Given the description of an element on the screen output the (x, y) to click on. 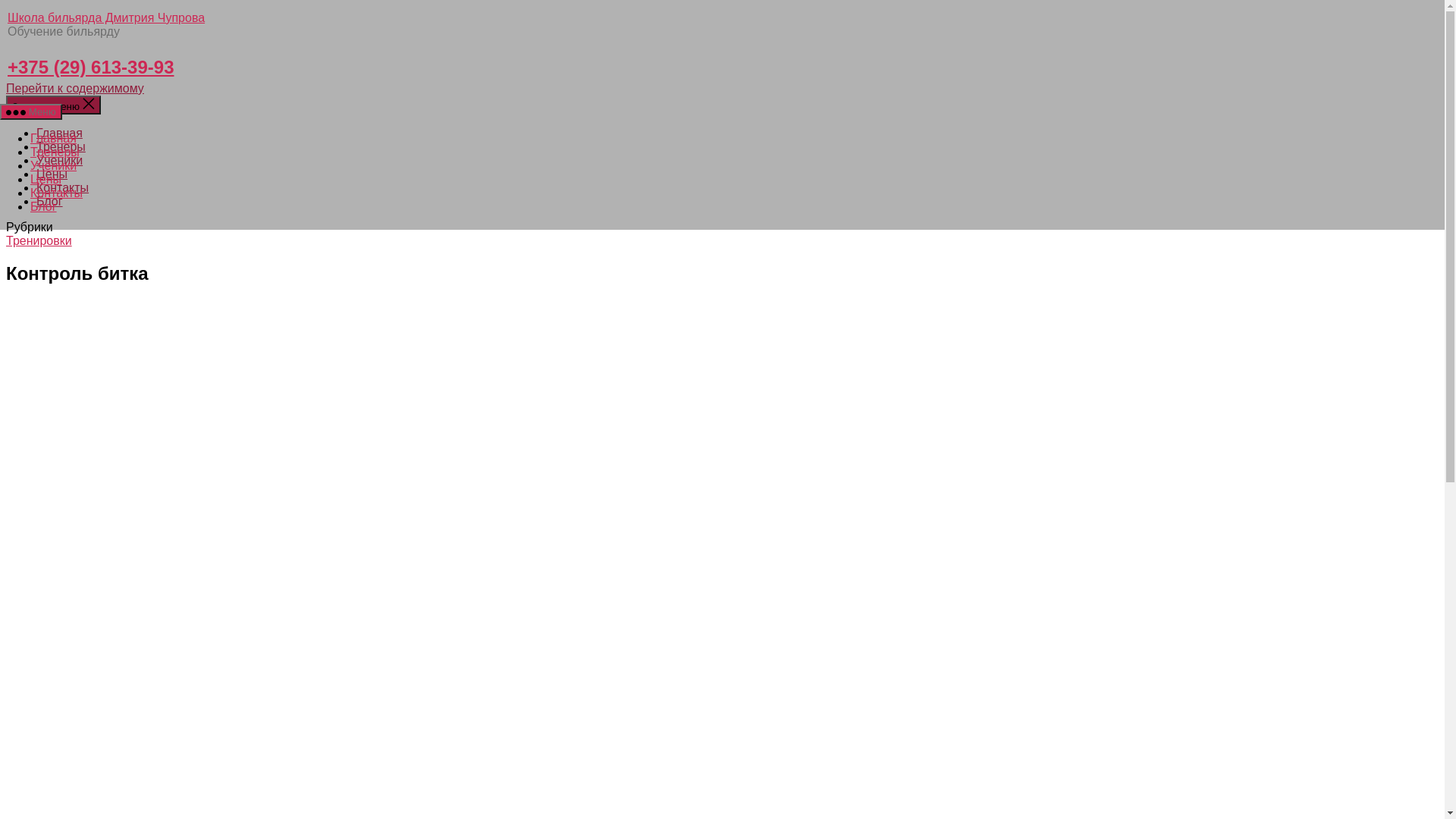
+375 (29) 613-39-93 Element type: text (90, 66)
